Given the description of an element on the screen output the (x, y) to click on. 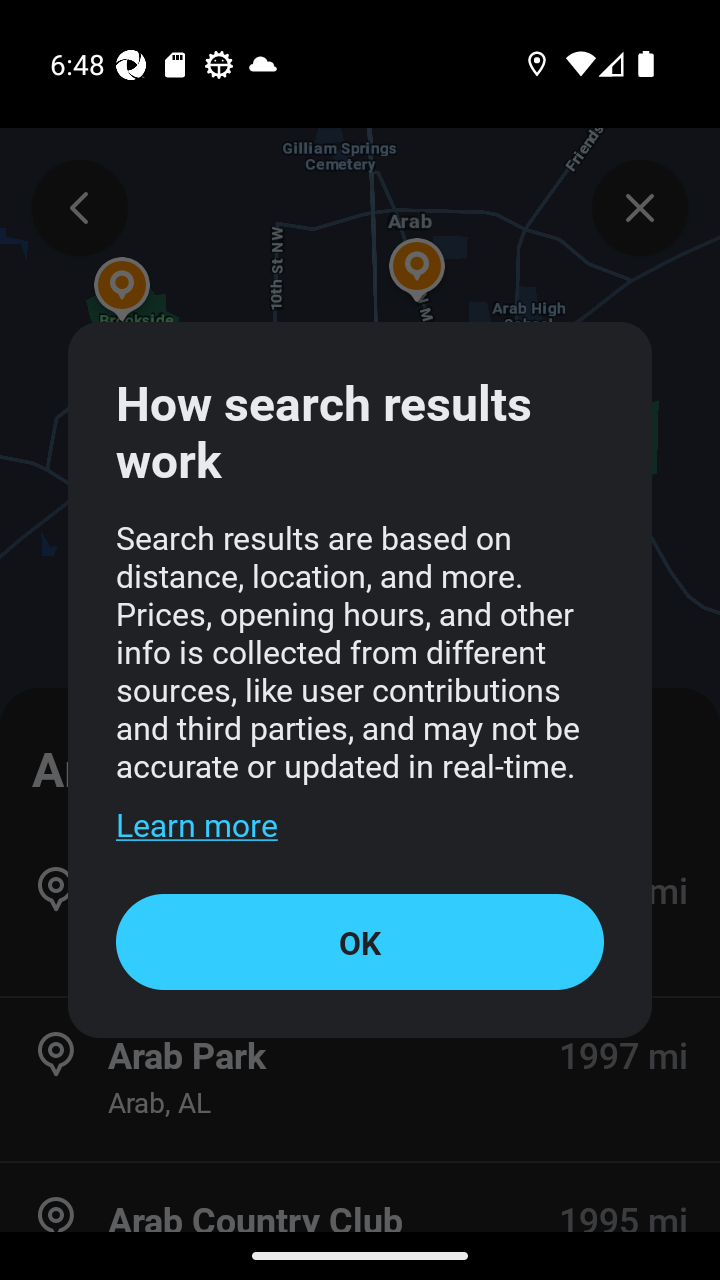
Learn more (196, 824)
OK (359, 941)
